Given the description of an element on the screen output the (x, y) to click on. 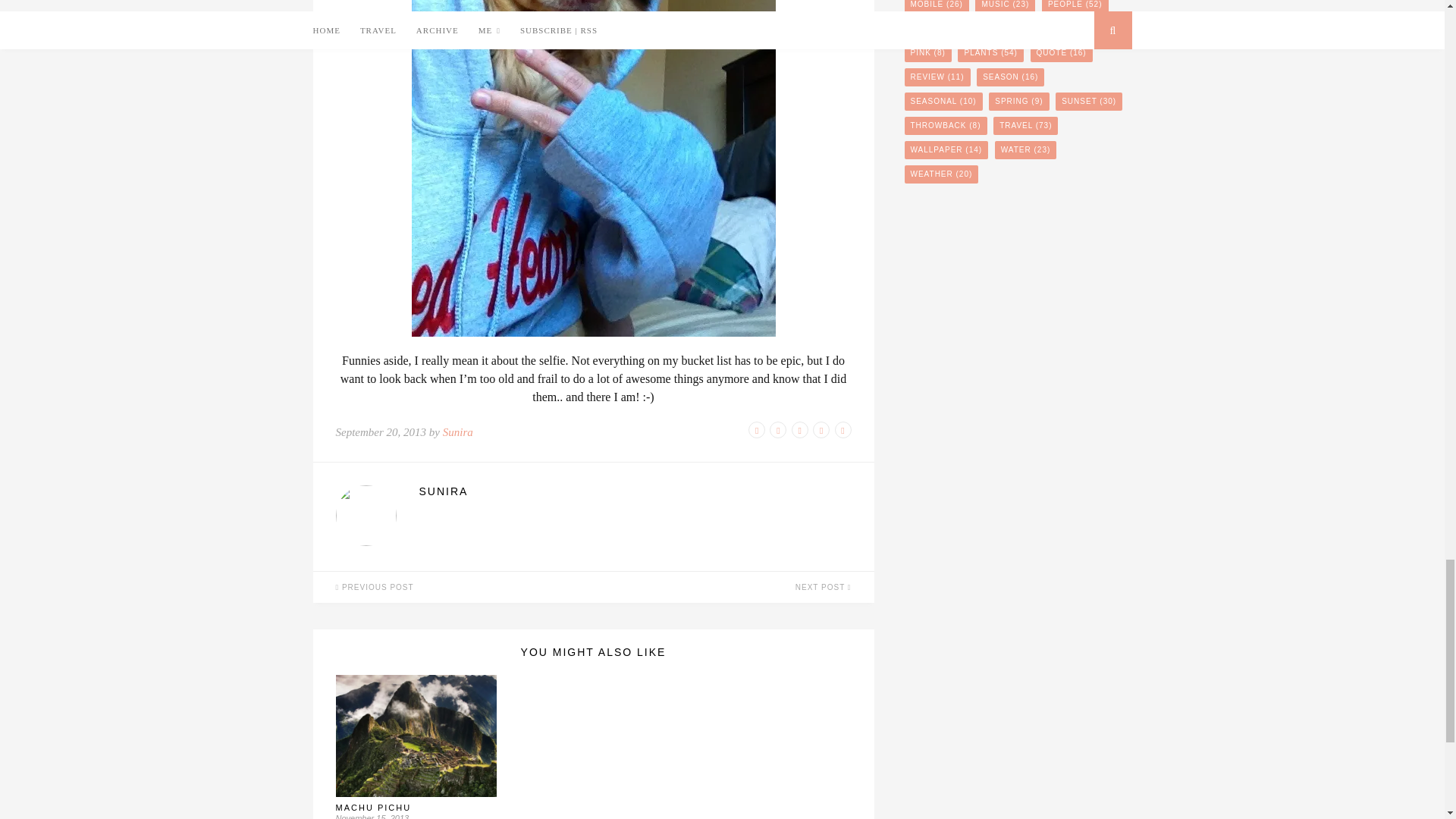
PREVIOUS POST (452, 586)
SUNIRA (634, 491)
Sunira (457, 431)
NEXT POST (732, 586)
Posts by Sunira (634, 491)
MACHU PICHU (372, 807)
Posts by Sunira (457, 431)
